Given the description of an element on the screen output the (x, y) to click on. 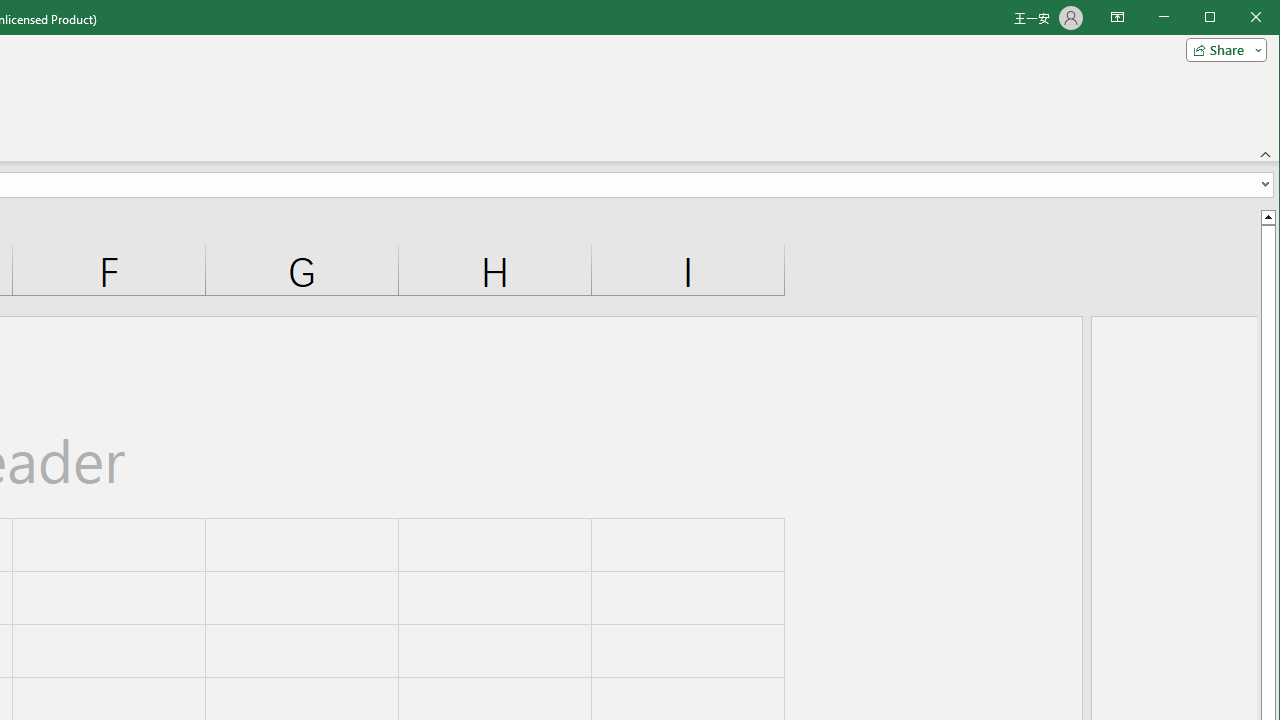
Collapse the Ribbon (1266, 154)
Close (1261, 18)
Line up (1268, 216)
Share (1222, 49)
Ribbon Display Options (1117, 17)
Maximize (1238, 18)
Minimize (1216, 18)
